Given the description of an element on the screen output the (x, y) to click on. 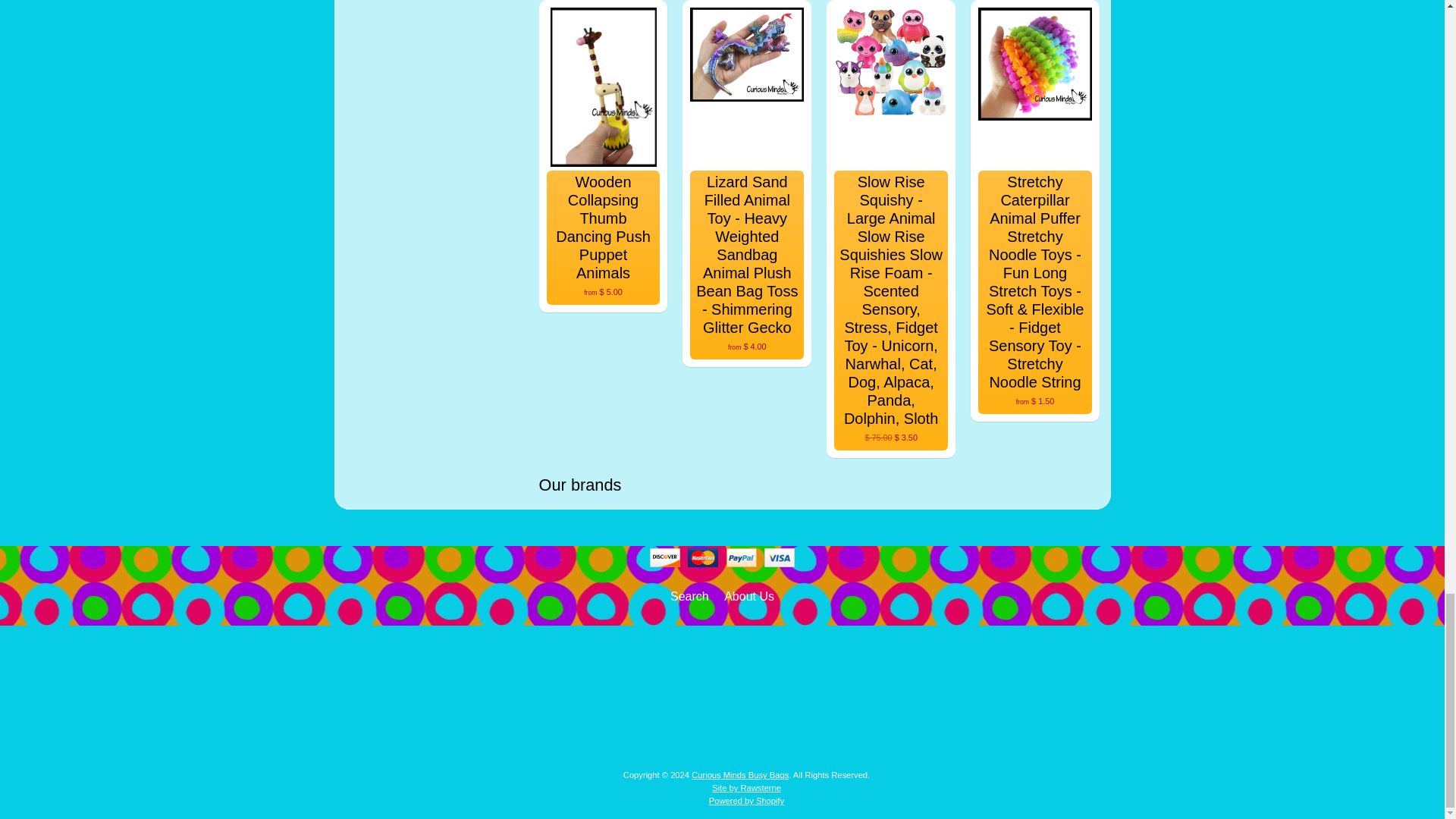
Our brands (818, 485)
Our brands (818, 485)
